Given the description of an element on the screen output the (x, y) to click on. 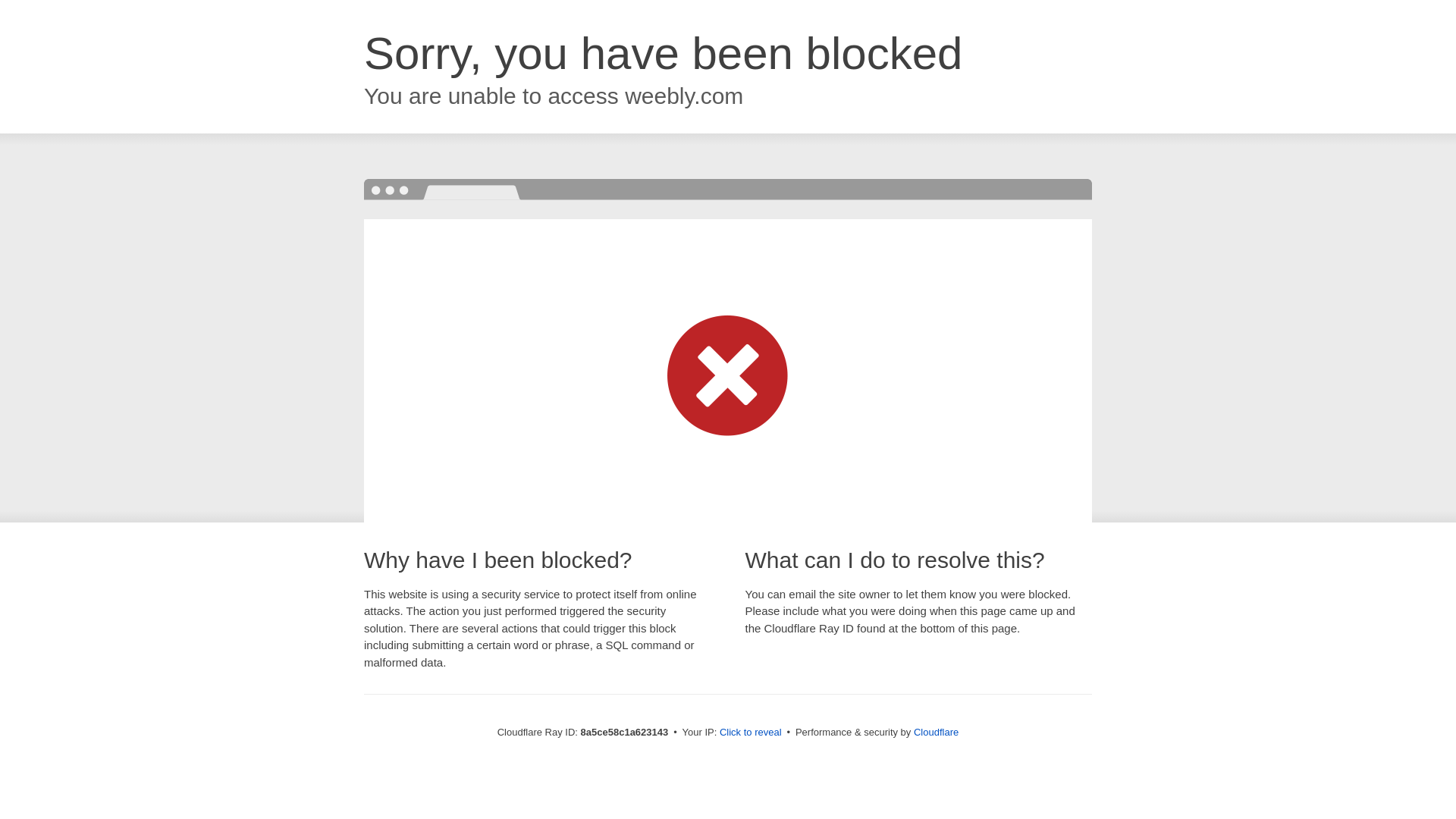
Click to reveal (750, 732)
Cloudflare (936, 731)
